Given the description of an element on the screen output the (x, y) to click on. 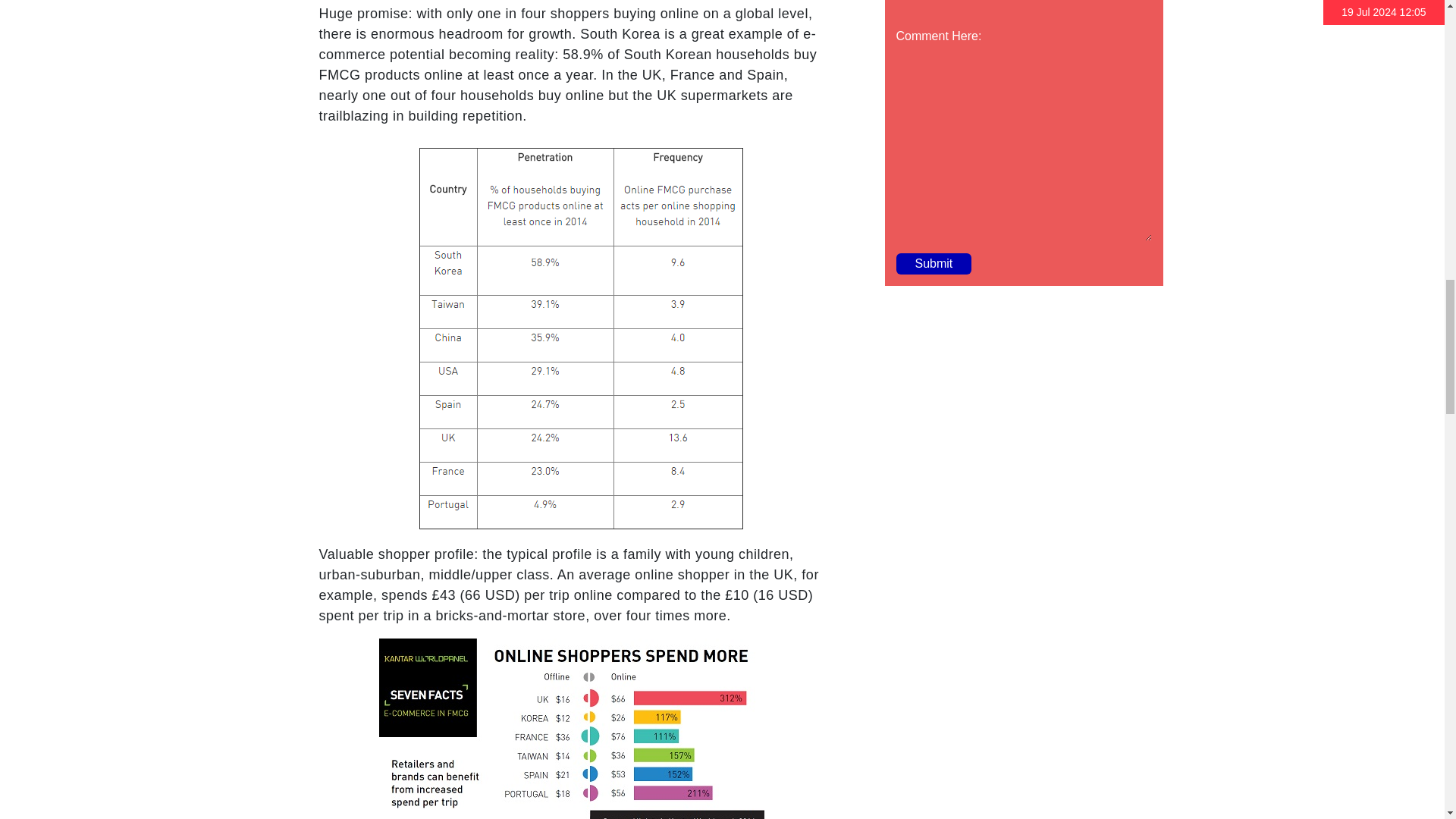
Submit (934, 263)
